Given the description of an element on the screen output the (x, y) to click on. 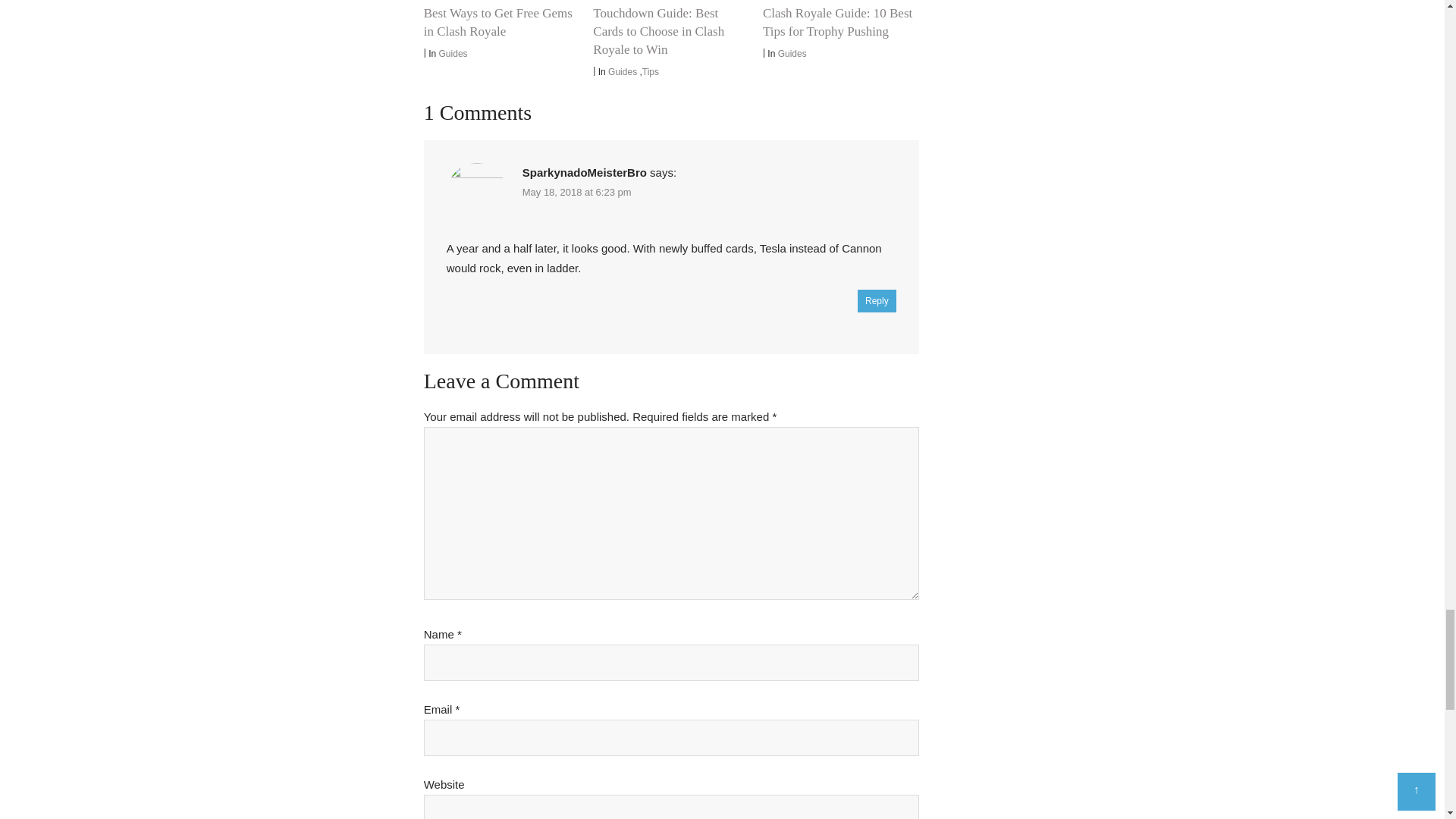
Guides (791, 53)
May 18, 2018 at 6:23 pm (576, 192)
Tips (650, 71)
Touchdown Guide: Best Cards to Choose in Clash Royale to Win (657, 30)
Guides (453, 53)
Clash Royale Guide: 10 Best Tips for Trophy Pushing (837, 21)
Best Ways to Get Free Gems in Clash Royale (497, 21)
Guides (622, 71)
Reply (876, 300)
